Given the description of an element on the screen output the (x, y) to click on. 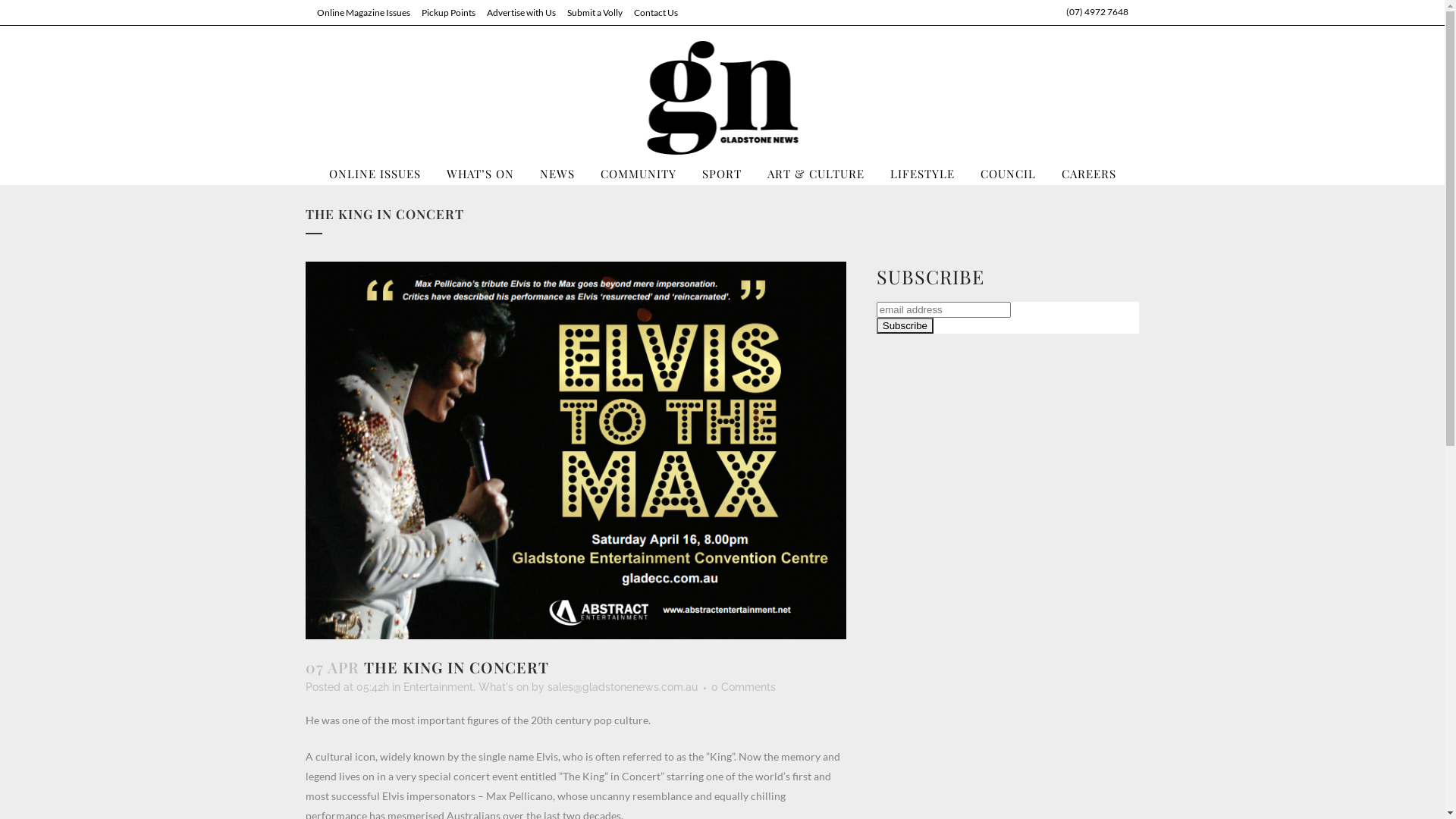
COMMUNITY Element type: text (637, 173)
ONLINE ISSUES Element type: text (374, 173)
Entertainment Element type: text (438, 686)
Subscribe Element type: text (904, 325)
CAREERS Element type: text (1088, 173)
(07) 4972 7648 Element type: text (1097, 11)
LIFESTYLE Element type: text (921, 173)
Pickup Points Element type: text (441, 12)
Submit a Volly Element type: text (588, 12)
Contact Us Element type: text (649, 12)
What's on Element type: text (502, 686)
COUNCIL Element type: text (1007, 173)
0 Comments Element type: text (743, 686)
Advertise with Us Element type: text (514, 12)
SPORT Element type: text (720, 173)
Online Magazine Issues Element type: text (356, 12)
NEWS Element type: text (556, 173)
ART & CULTURE Element type: text (814, 173)
sales@gladstonenews.com.au Element type: text (622, 686)
